Given the description of an element on the screen output the (x, y) to click on. 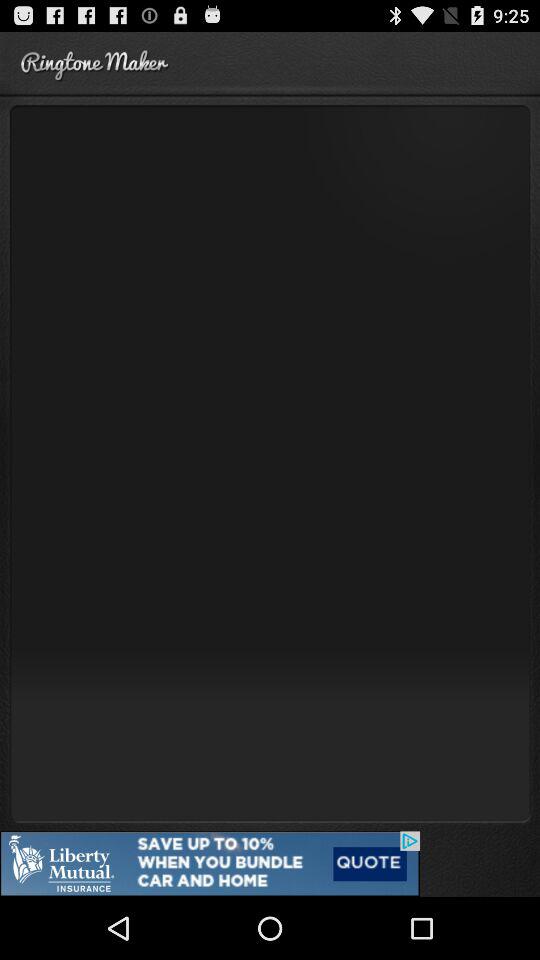
new pega (269, 462)
